Given the description of an element on the screen output the (x, y) to click on. 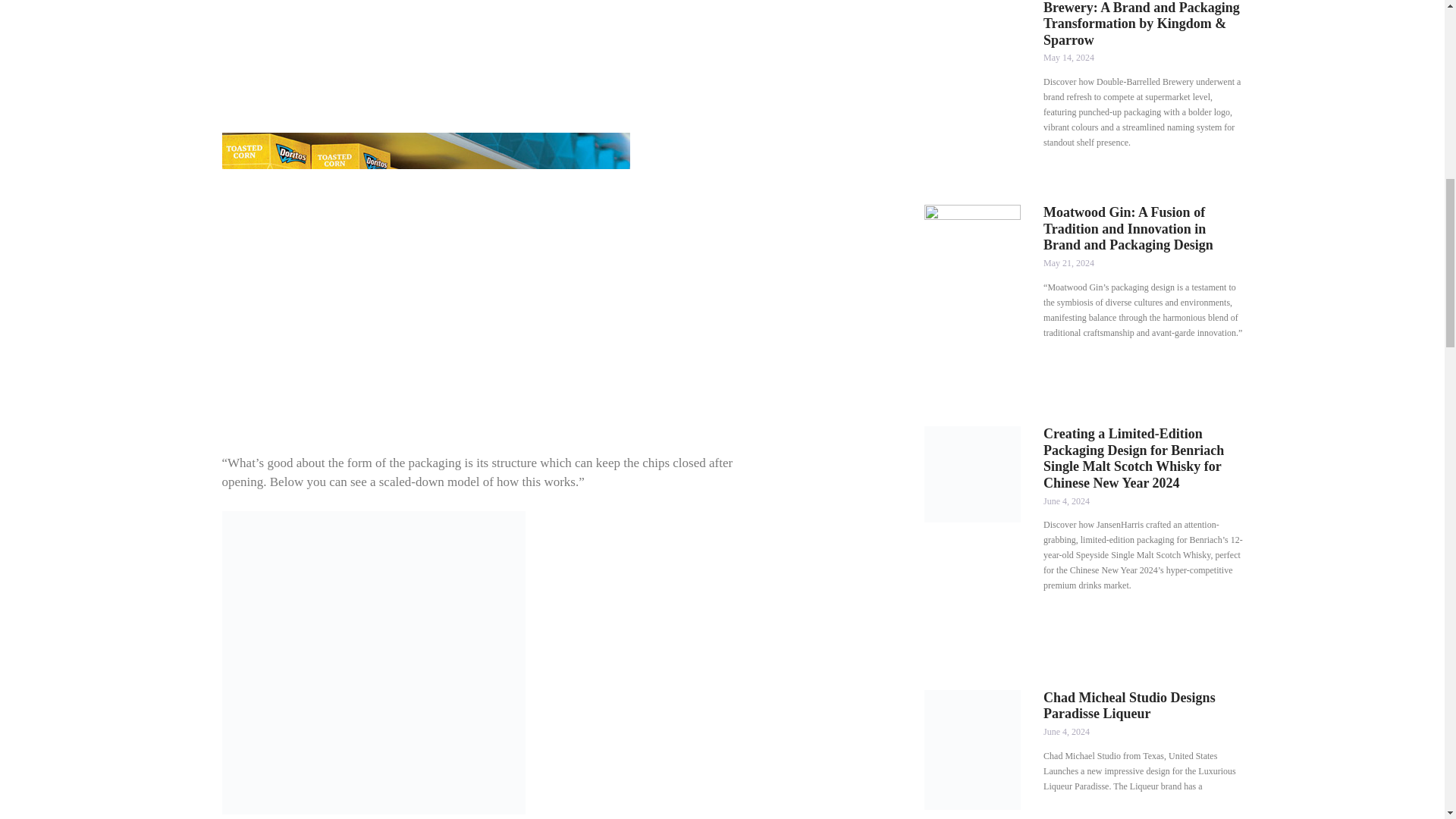
doritos3 (424, 279)
doritos2 (424, 53)
821171254064077 (372, 662)
